Given the description of an element on the screen output the (x, y) to click on. 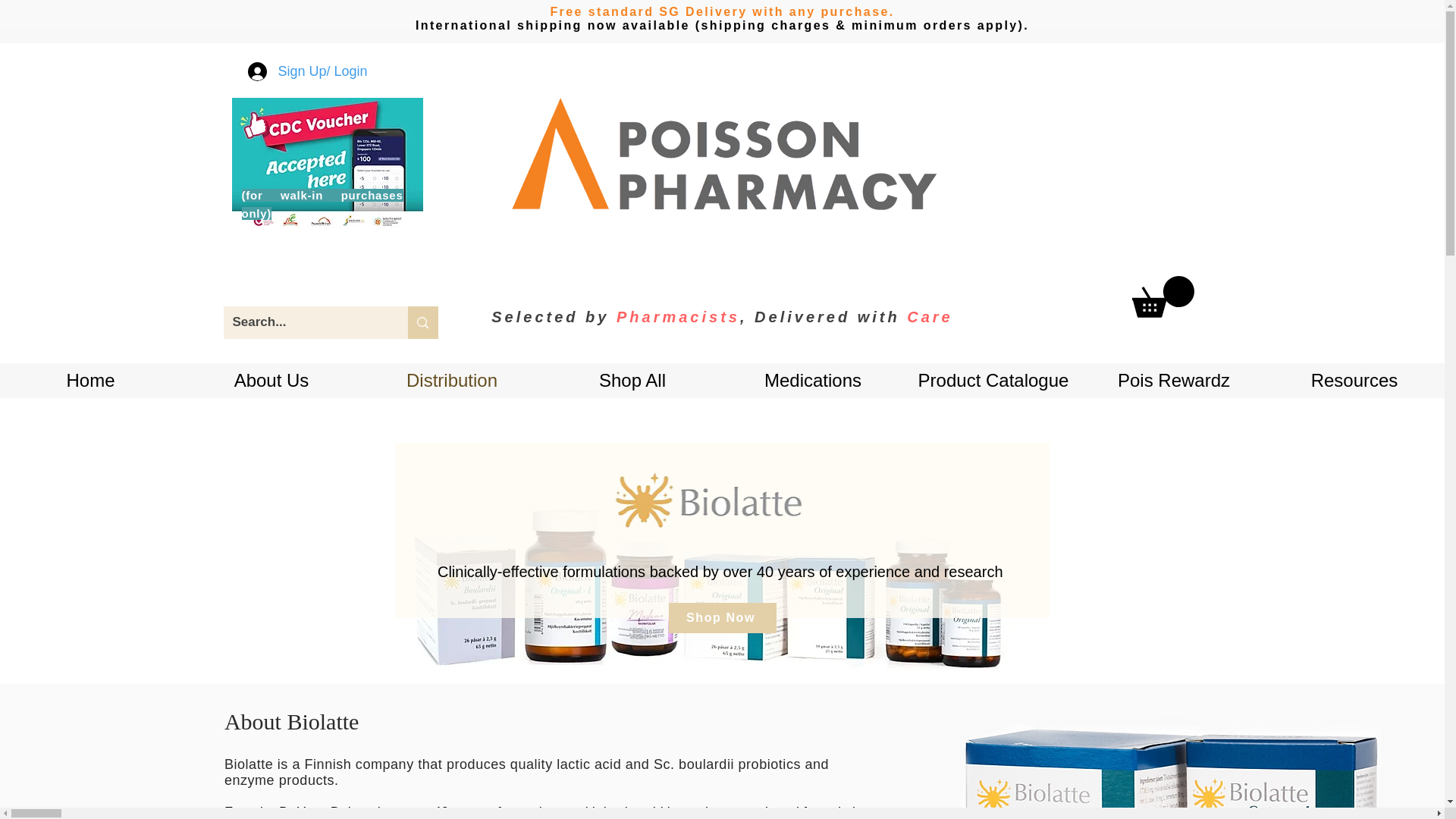
Shop Now (722, 617)
Shop All (631, 380)
About Us (270, 380)
Pois Rewardz (1173, 380)
Product Catalogue (992, 380)
Home (90, 380)
Distribution (451, 380)
Resources (1353, 380)
